Given the description of an element on the screen output the (x, y) to click on. 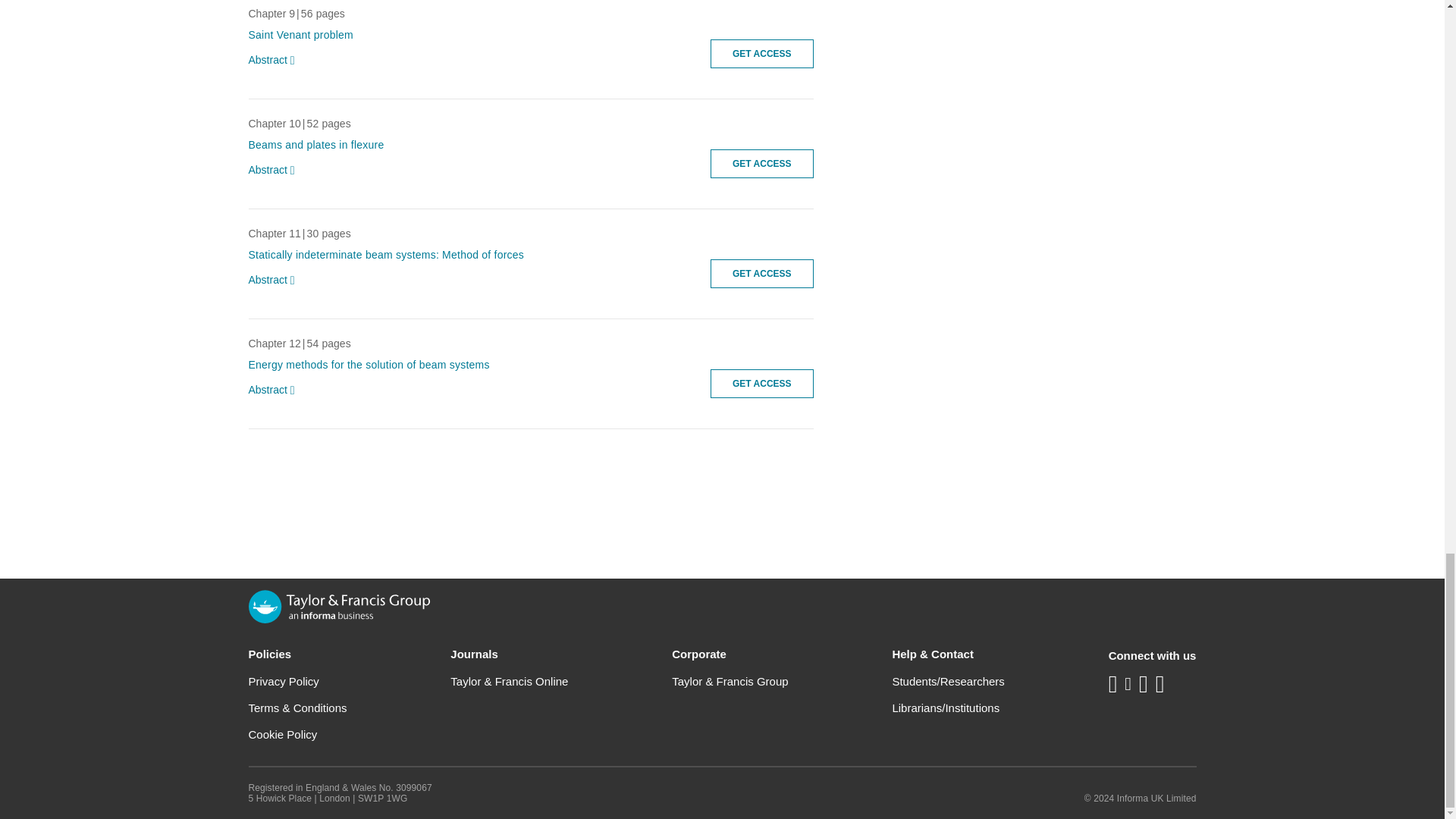
Saint Venant problem (300, 34)
GET ACCESS (761, 53)
Abstract (273, 60)
